Given the description of an element on the screen output the (x, y) to click on. 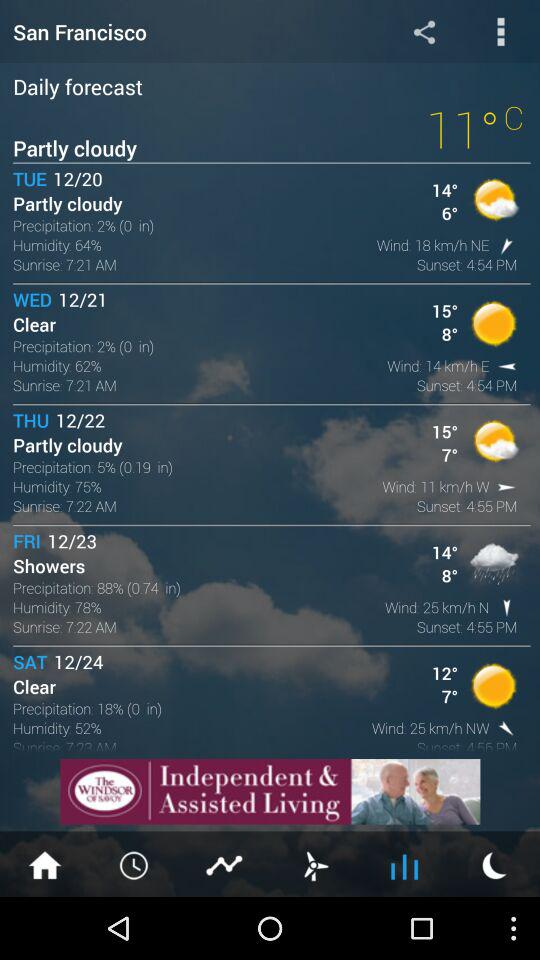
go home (45, 864)
